Given the description of an element on the screen output the (x, y) to click on. 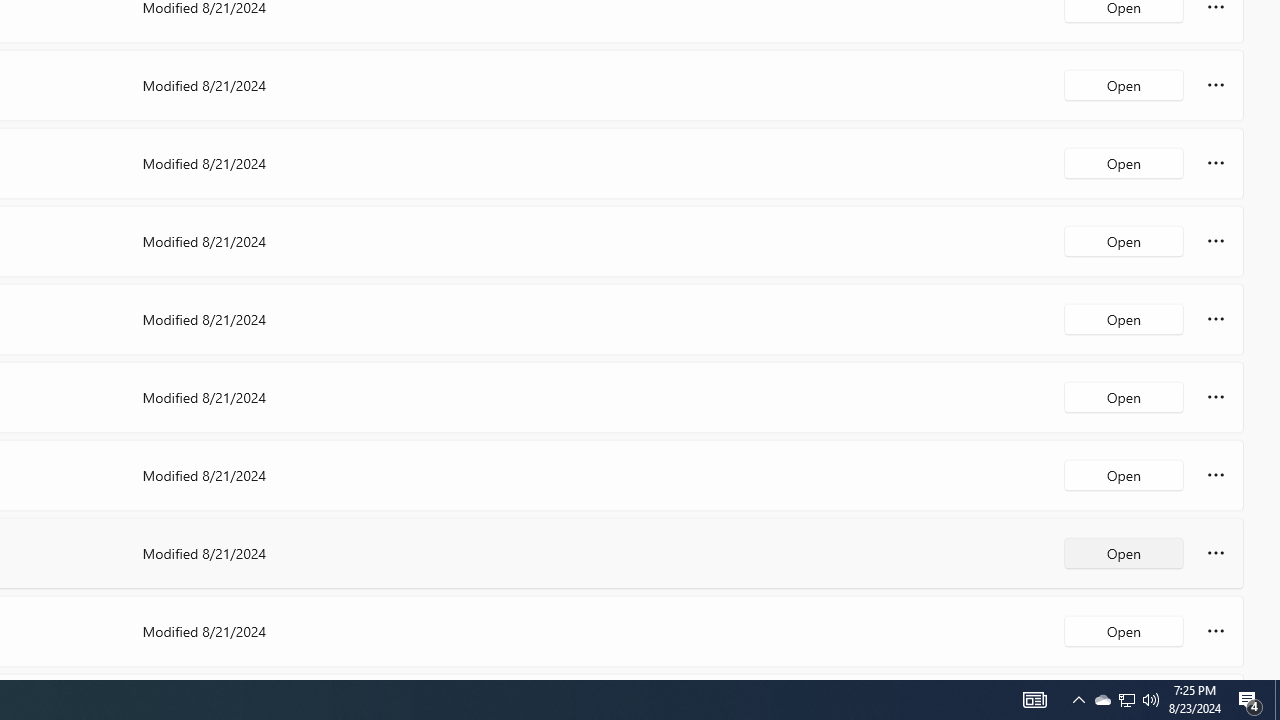
More options (1215, 630)
Open (1123, 630)
